Given the description of an element on the screen output the (x, y) to click on. 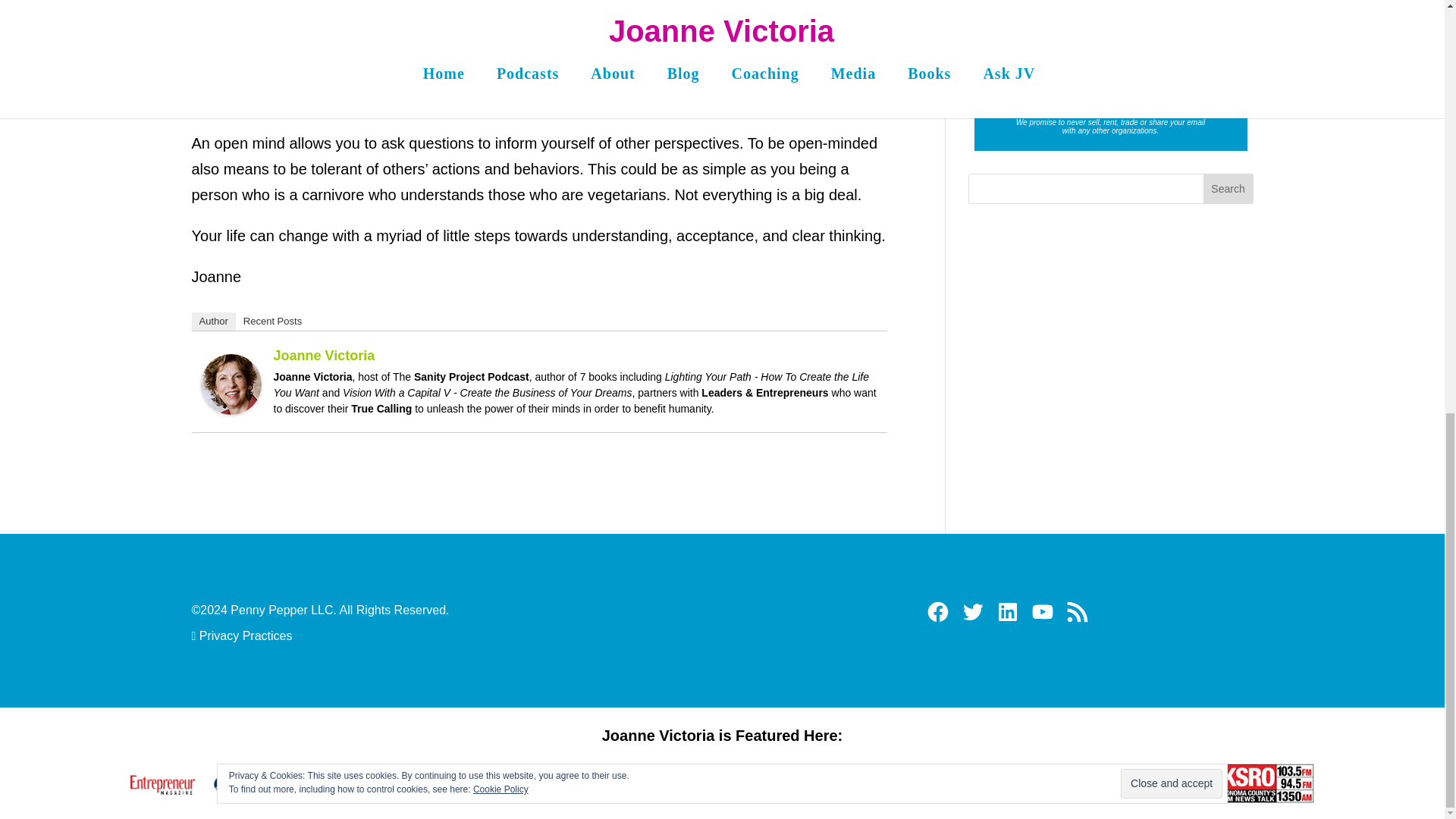
Joanne Victoria (230, 401)
Privacy Practices (243, 635)
RSS Feed (1077, 611)
Search (1228, 188)
Joanne Victoria (323, 355)
Facebook (938, 611)
Search (1228, 188)
Author (212, 321)
YouTube (1042, 611)
Twitter (972, 611)
LinkedIn (1007, 611)
Get It (1110, 71)
Recent Posts (271, 321)
